Given the description of an element on the screen output the (x, y) to click on. 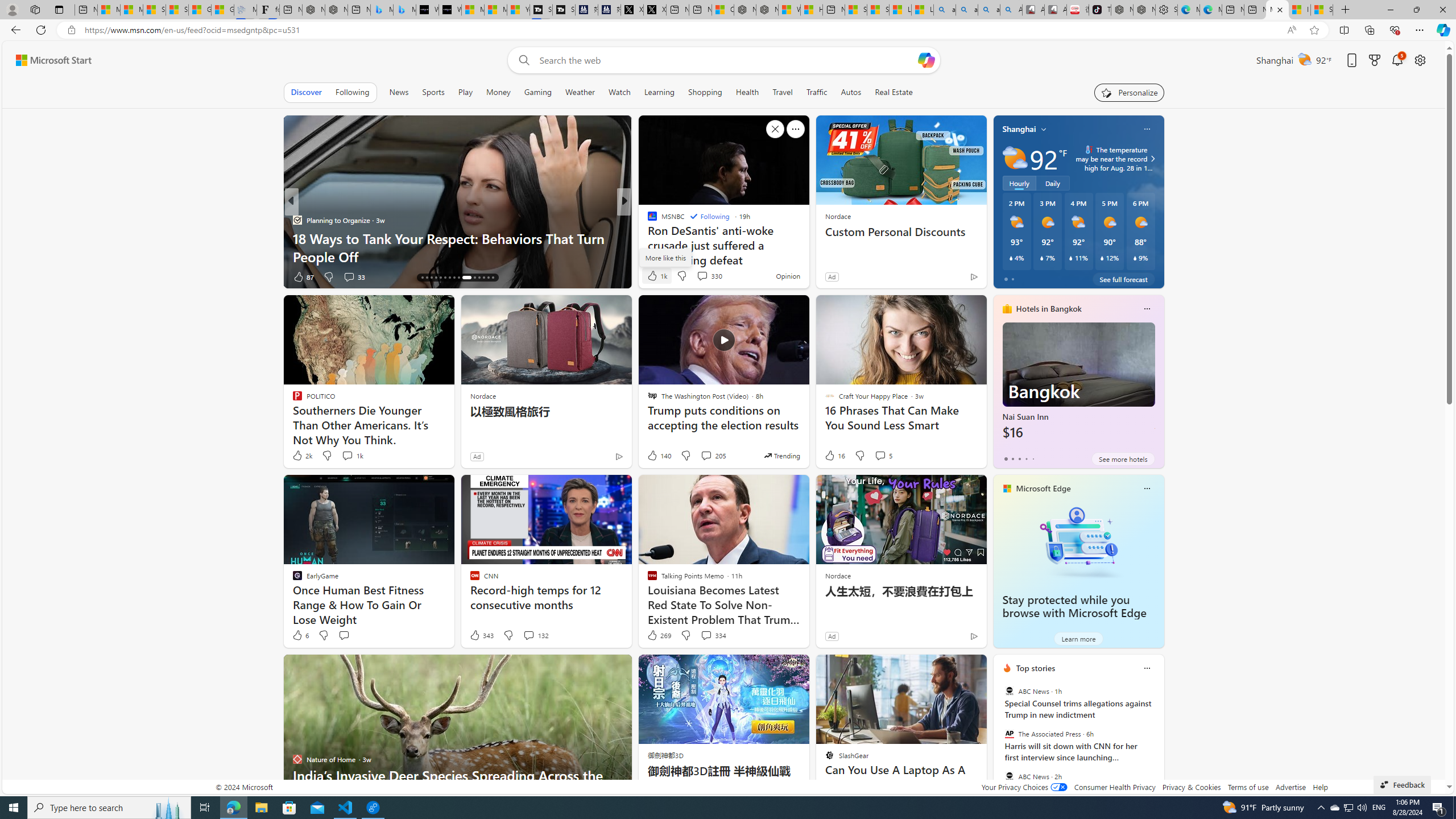
View comments 6 Comment (6, 276)
Class: weather-arrow-glyph (1152, 158)
View comments 213 Comment (6, 276)
Stay protected while you browse with Microsoft Edge (1074, 606)
View comments 39 Comment (6, 276)
Your Privacy Choices (1024, 786)
View comments 330 Comment (708, 275)
